Given the description of an element on the screen output the (x, y) to click on. 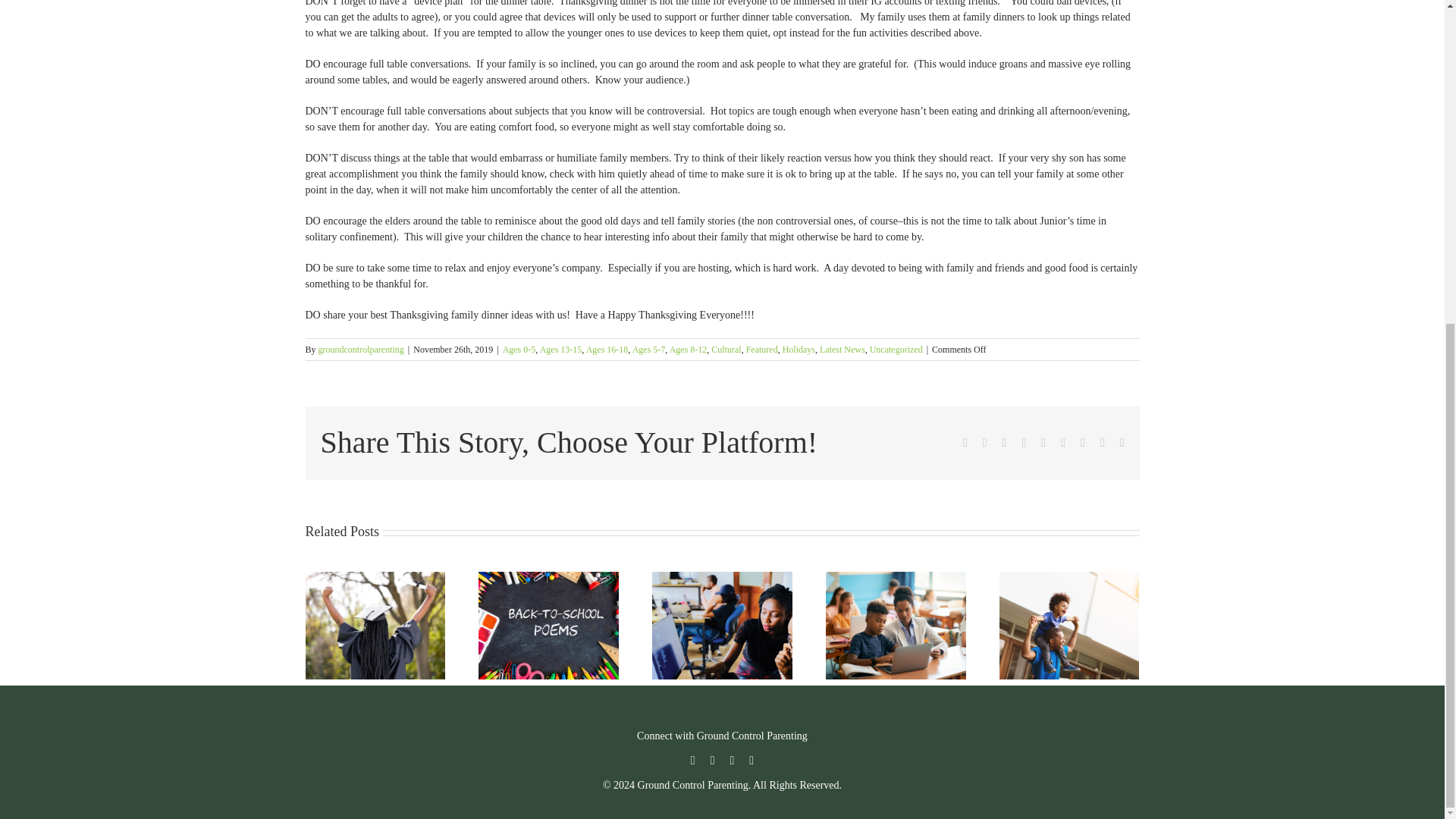
Posts by groundcontrolparenting (361, 348)
